Given the description of an element on the screen output the (x, y) to click on. 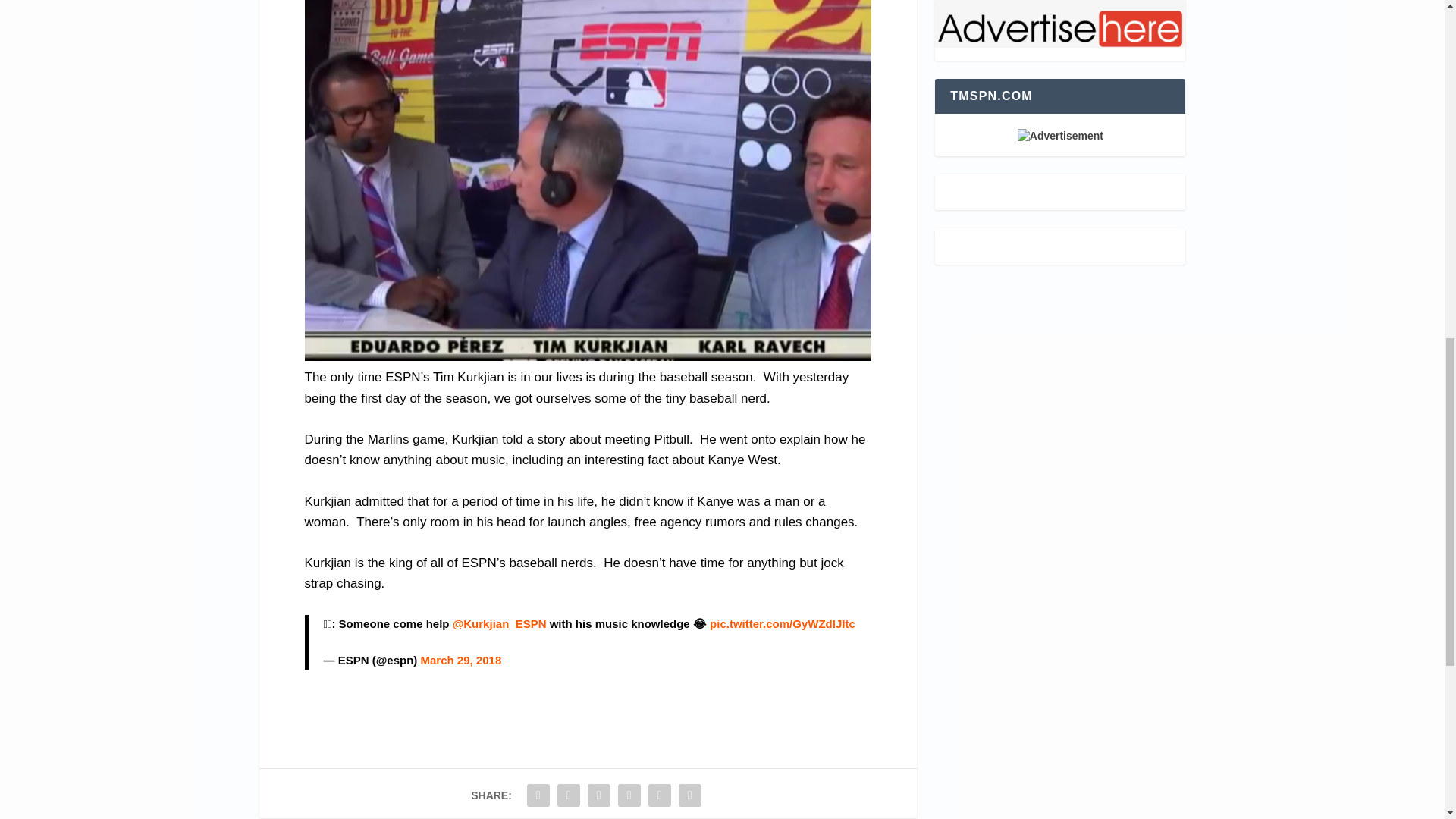
March 29, 2018 (460, 659)
